Given the description of an element on the screen output the (x, y) to click on. 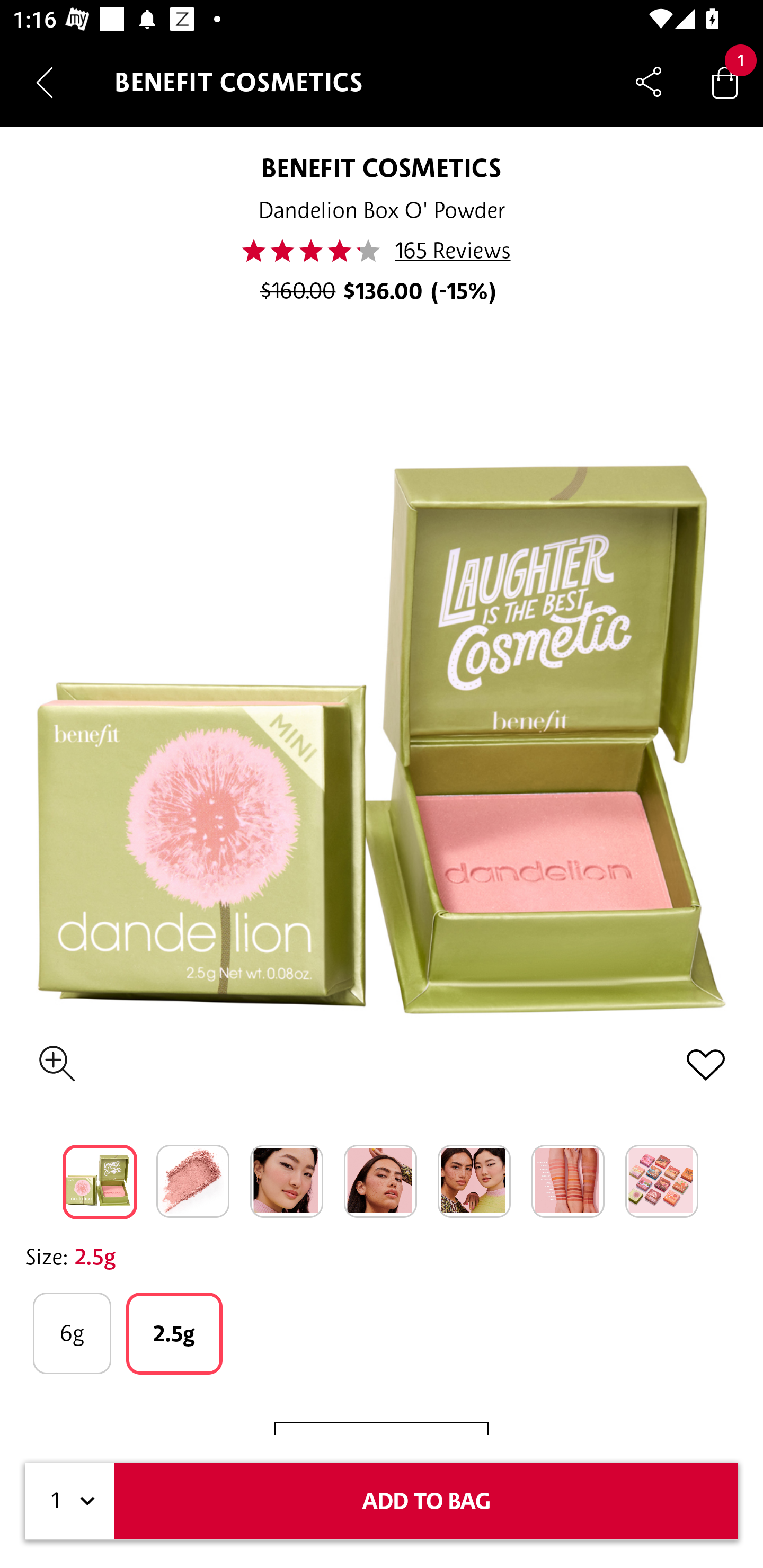
Navigate up (44, 82)
Share (648, 81)
Bag (724, 81)
BENEFIT COSMETICS (381, 167)
42.0 165 Reviews (381, 250)
6g (71, 1332)
2.5g (173, 1333)
1 (69, 1500)
ADD TO BAG (425, 1500)
